Given the description of an element on the screen output the (x, y) to click on. 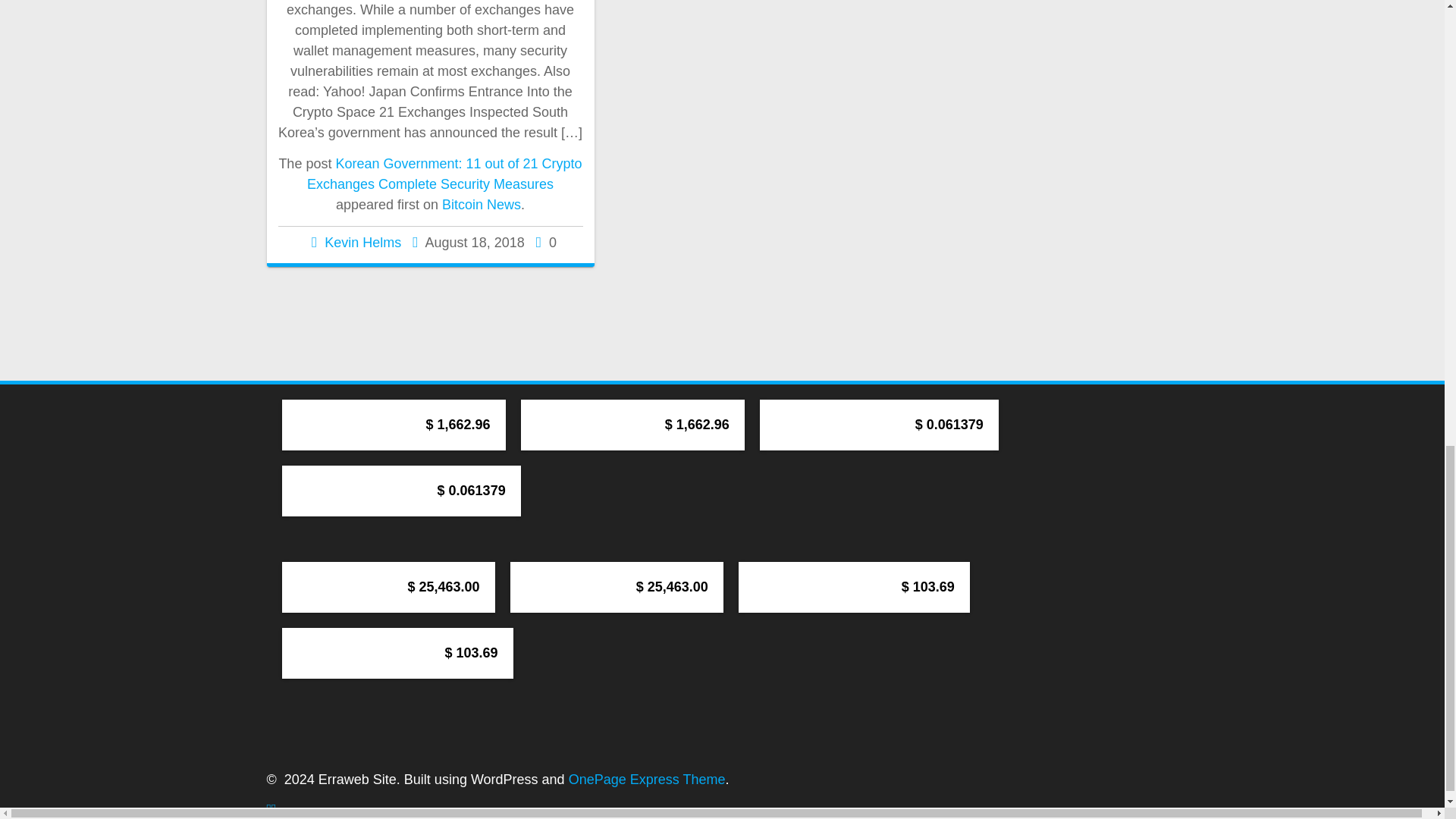
OnePage Express Theme (647, 779)
Kevin Helms (362, 242)
Bitcoin News (481, 204)
Posts by Kevin Helms (362, 242)
